Given the description of an element on the screen output the (x, y) to click on. 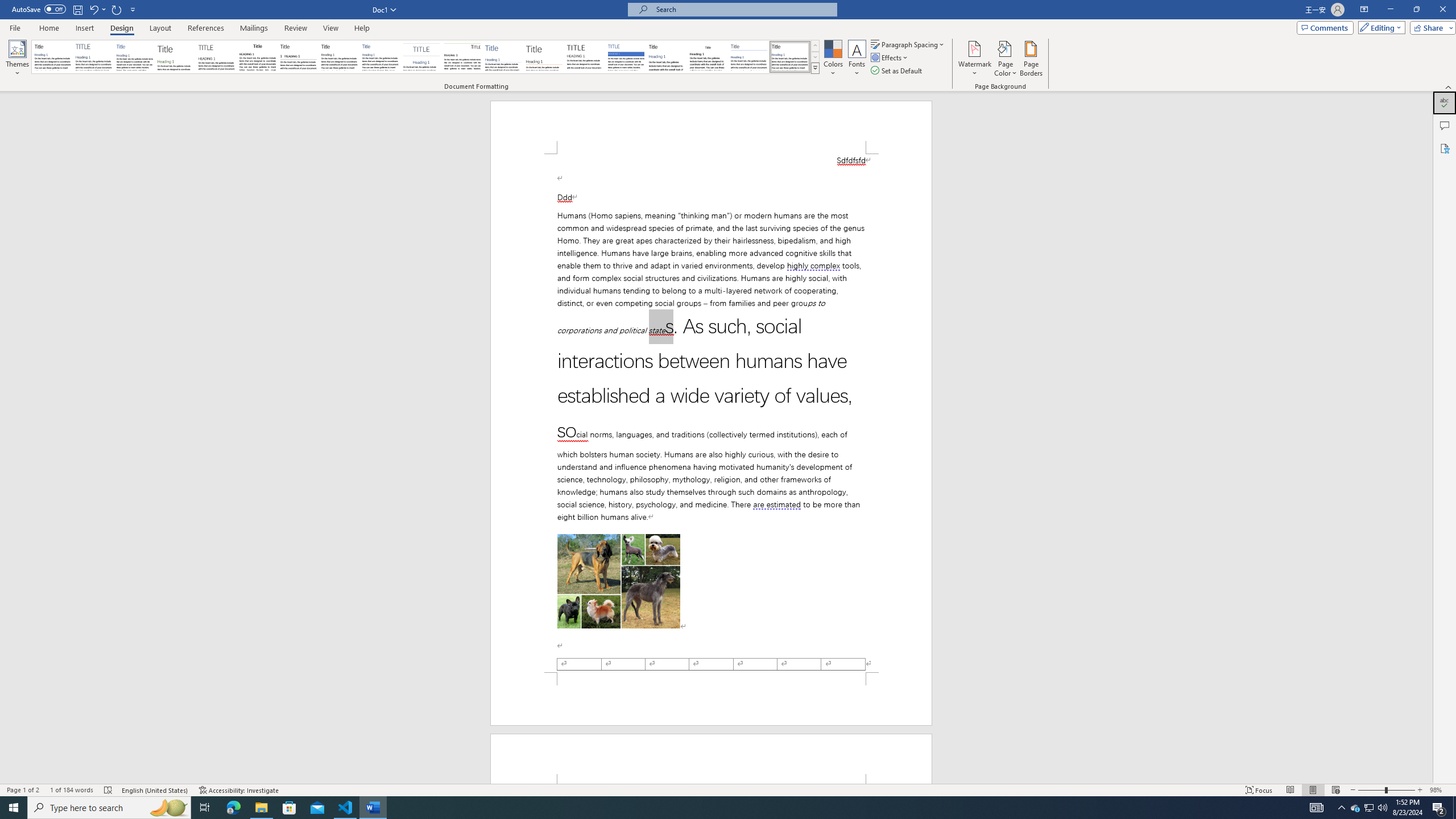
Set as Default (897, 69)
Word 2003 (707, 56)
Accessibility (1444, 147)
Lines (Simple) (503, 56)
Repeat Accessibility Checker (117, 9)
Basic (Stylish) (175, 56)
